Given the description of an element on the screen output the (x, y) to click on. 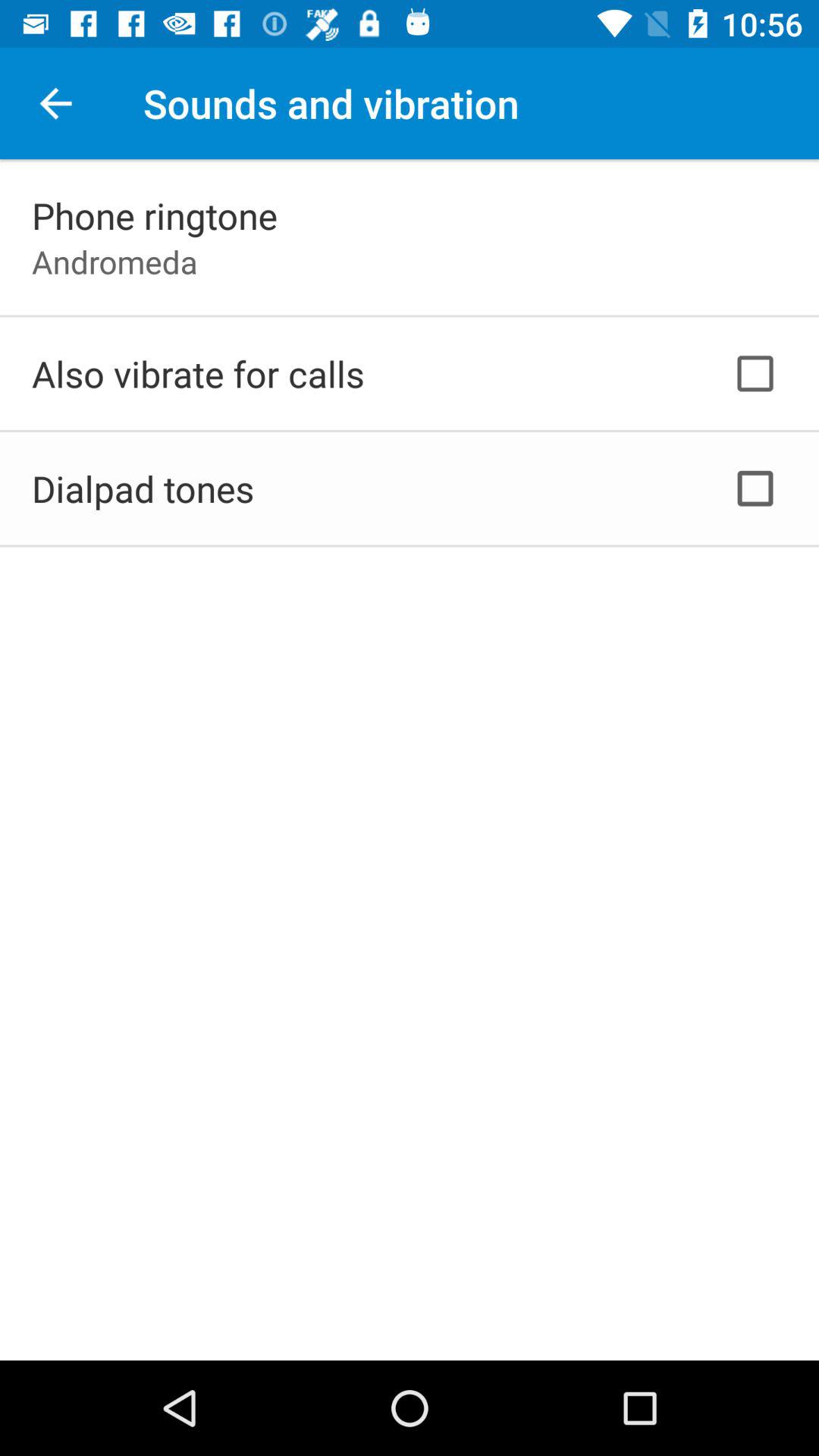
swipe to the phone ringtone (154, 215)
